Given the description of an element on the screen output the (x, y) to click on. 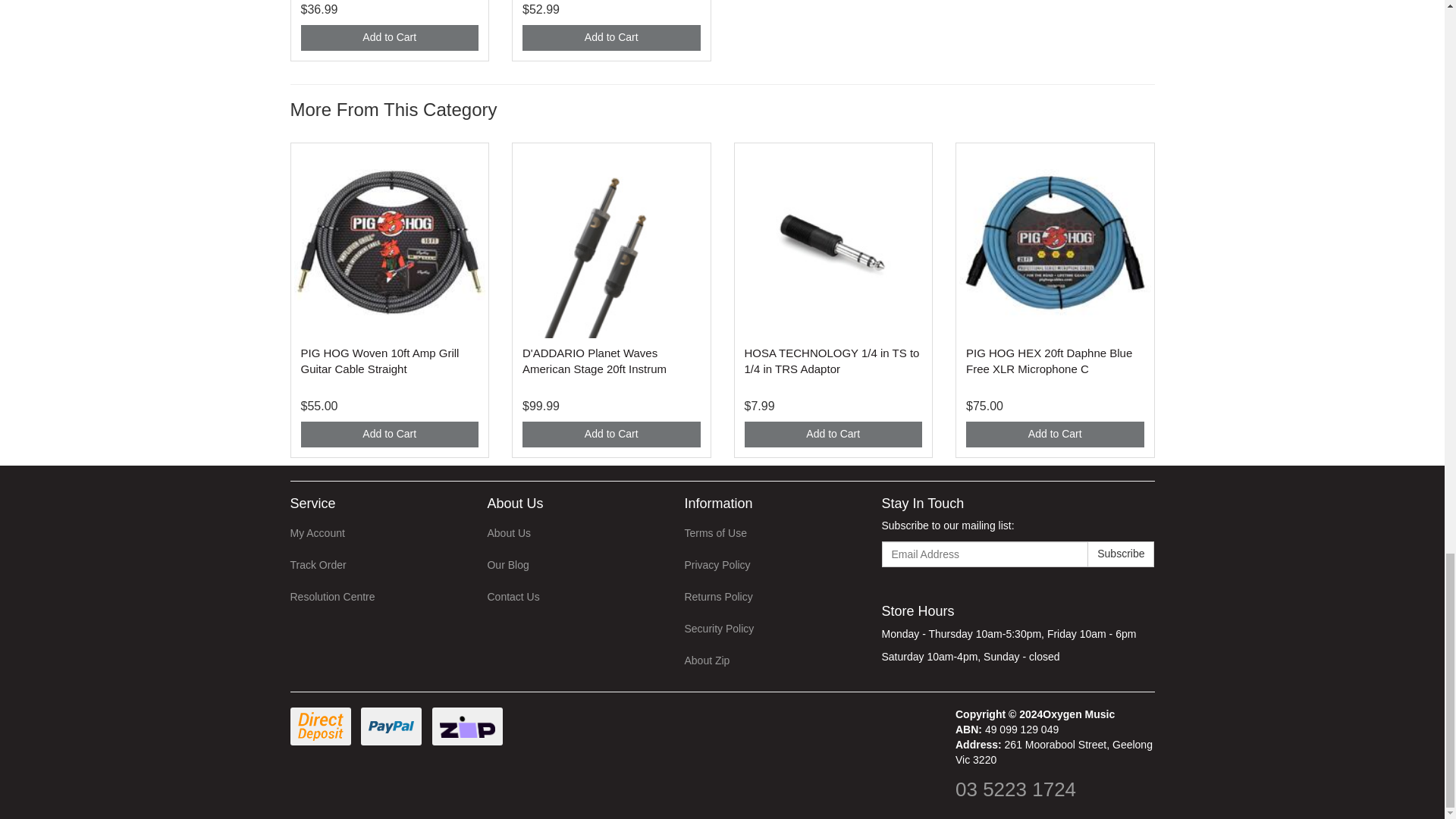
Add to Cart (833, 434)
PIG HOG Woven 10ft Amp Grill Guitar Cable Straight Jack (378, 360)
Add to Cart (389, 434)
Add to Cart (611, 37)
D'ADDARIO Planet Waves American Stage 20ft Instrument Cable (594, 360)
Add to Cart (611, 434)
Add to Cart (1055, 434)
PIG HOG HEX 20ft Daphne Blue Free XLR Microphone Cable (1049, 360)
Subscribe (1120, 554)
Add to Cart (389, 37)
